Given the description of an element on the screen output the (x, y) to click on. 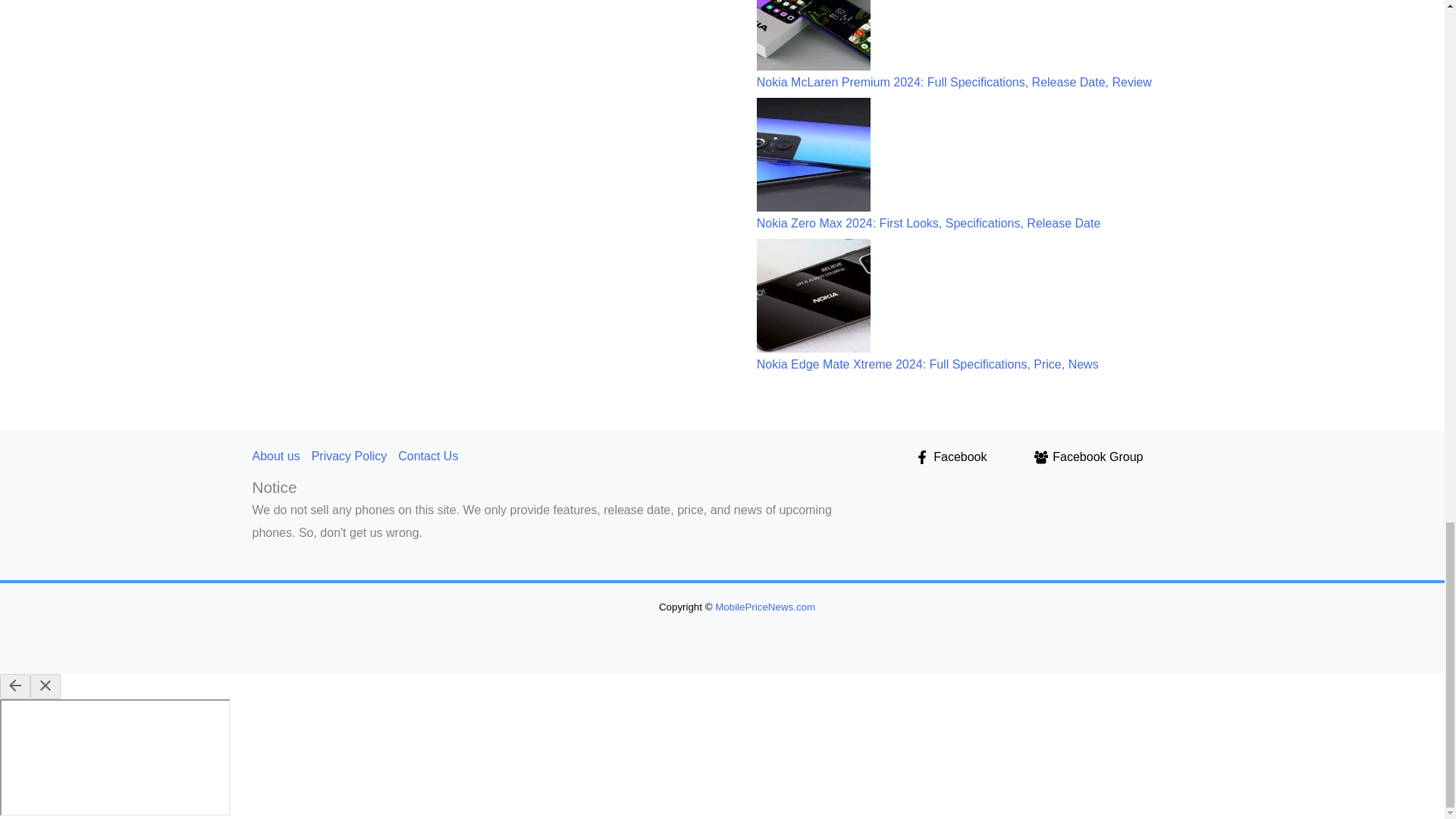
About us (281, 456)
MobilePriceNews.com (764, 606)
Contact Us (432, 456)
Facebook (951, 457)
Facebook Group (1088, 457)
Privacy Policy (354, 456)
